Given the description of an element on the screen output the (x, y) to click on. 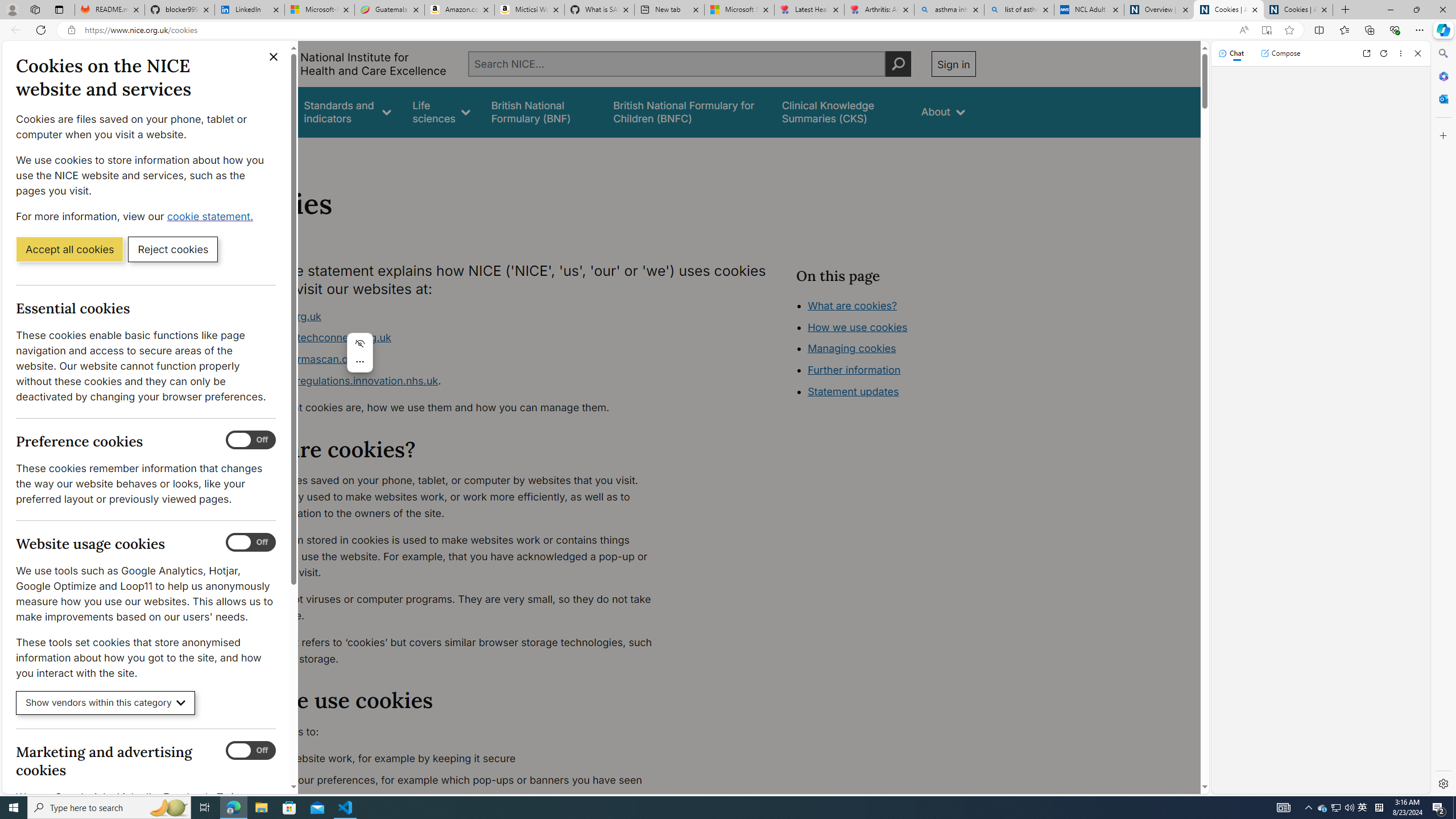
Mini menu on text selection (359, 359)
How we use cookies (857, 327)
Show vendors within this category (105, 703)
Cookies | About | NICE (1297, 9)
Life sciences (440, 111)
Close cookie banner (273, 56)
Further information (854, 369)
Mini menu on text selection (359, 352)
